Given the description of an element on the screen output the (x, y) to click on. 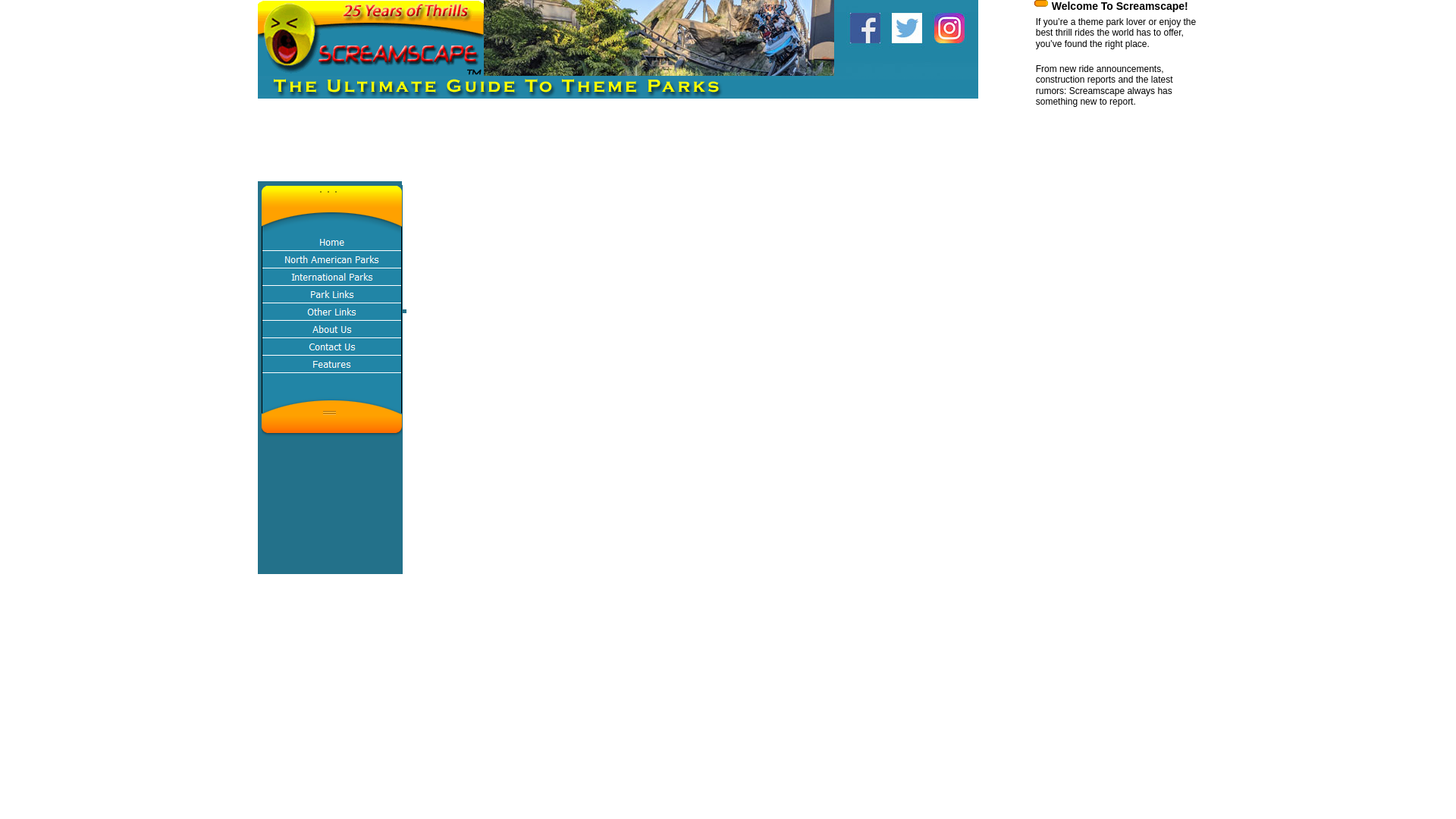
North American Parks (331, 259)
International Parks (331, 276)
Contact Us (331, 346)
Other Links (331, 312)
Park Links (331, 294)
Home (331, 241)
Features (331, 364)
Advertisement (533, 146)
About Us (331, 329)
